Given the description of an element on the screen output the (x, y) to click on. 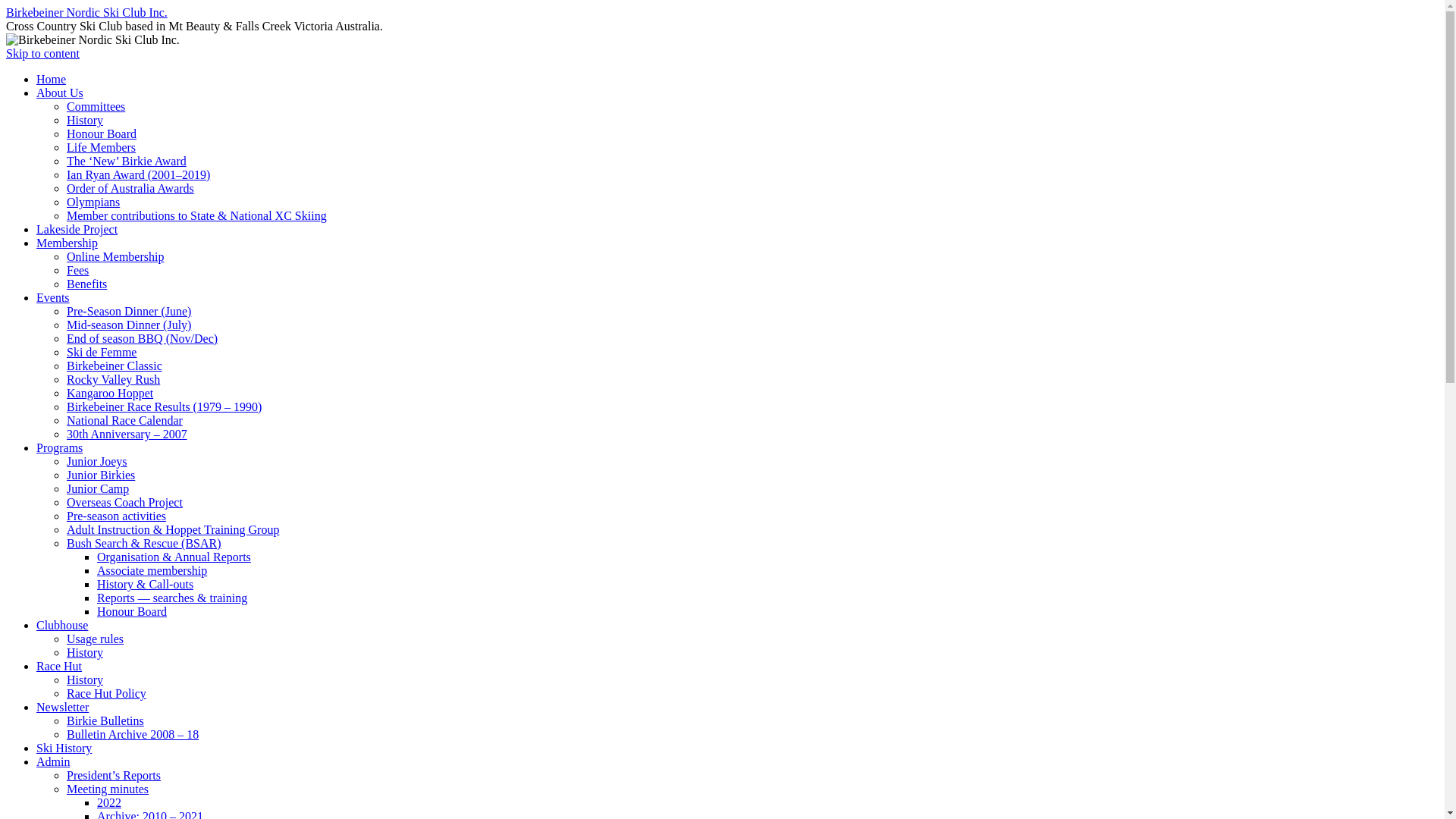
Junior Birkies Element type: text (100, 474)
Bush Search & Rescue (BSAR) Element type: text (143, 542)
Junior Camp Element type: text (97, 488)
Race Hut Policy Element type: text (106, 693)
Home Element type: text (50, 78)
Membership Element type: text (66, 242)
Overseas Coach Project Element type: text (124, 501)
Clubhouse Element type: text (61, 624)
Member contributions to State & National XC Skiing Element type: text (196, 215)
Skip to content Element type: text (42, 53)
Order of Australia Awards Element type: text (130, 188)
Birkie Bulletins Element type: text (105, 720)
Organisation & Annual Reports Element type: text (174, 556)
History Element type: text (84, 679)
Birkebeiner Nordic Ski Club Inc. Element type: text (86, 12)
Committees Element type: text (95, 106)
Ski de Femme Element type: text (101, 351)
Meeting minutes Element type: text (107, 788)
Benefits Element type: text (86, 283)
About Us Element type: text (59, 92)
Usage rules Element type: text (94, 638)
Fees Element type: text (77, 269)
Honour Board Element type: text (101, 133)
History & Call-outs Element type: text (145, 583)
Adult Instruction & Hoppet Training Group Element type: text (172, 529)
End of season BBQ (Nov/Dec) Element type: text (141, 338)
Online Membership Element type: text (114, 256)
Race Hut Element type: text (58, 665)
Kangaroo Hoppet Element type: text (109, 392)
Associate membership Element type: text (152, 570)
Admin Element type: text (52, 761)
Life Members Element type: text (100, 147)
Junior Joeys Element type: text (96, 461)
2022 Element type: text (109, 802)
National Race Calendar Element type: text (124, 420)
Newsletter Element type: text (62, 706)
Pre-Season Dinner (June) Element type: text (128, 310)
History Element type: text (84, 652)
History Element type: text (84, 119)
Ski History Element type: text (63, 747)
Honour Board Element type: text (131, 611)
Rocky Valley Rush Element type: text (113, 379)
Birkebeiner Classic Element type: text (114, 365)
Programs Element type: text (59, 447)
Lakeside Project Element type: text (76, 228)
Events Element type: text (52, 297)
Mid-season Dinner (July) Element type: text (128, 324)
Pre-season activities Element type: text (116, 515)
Olympians Element type: text (92, 201)
